Given the description of an element on the screen output the (x, y) to click on. 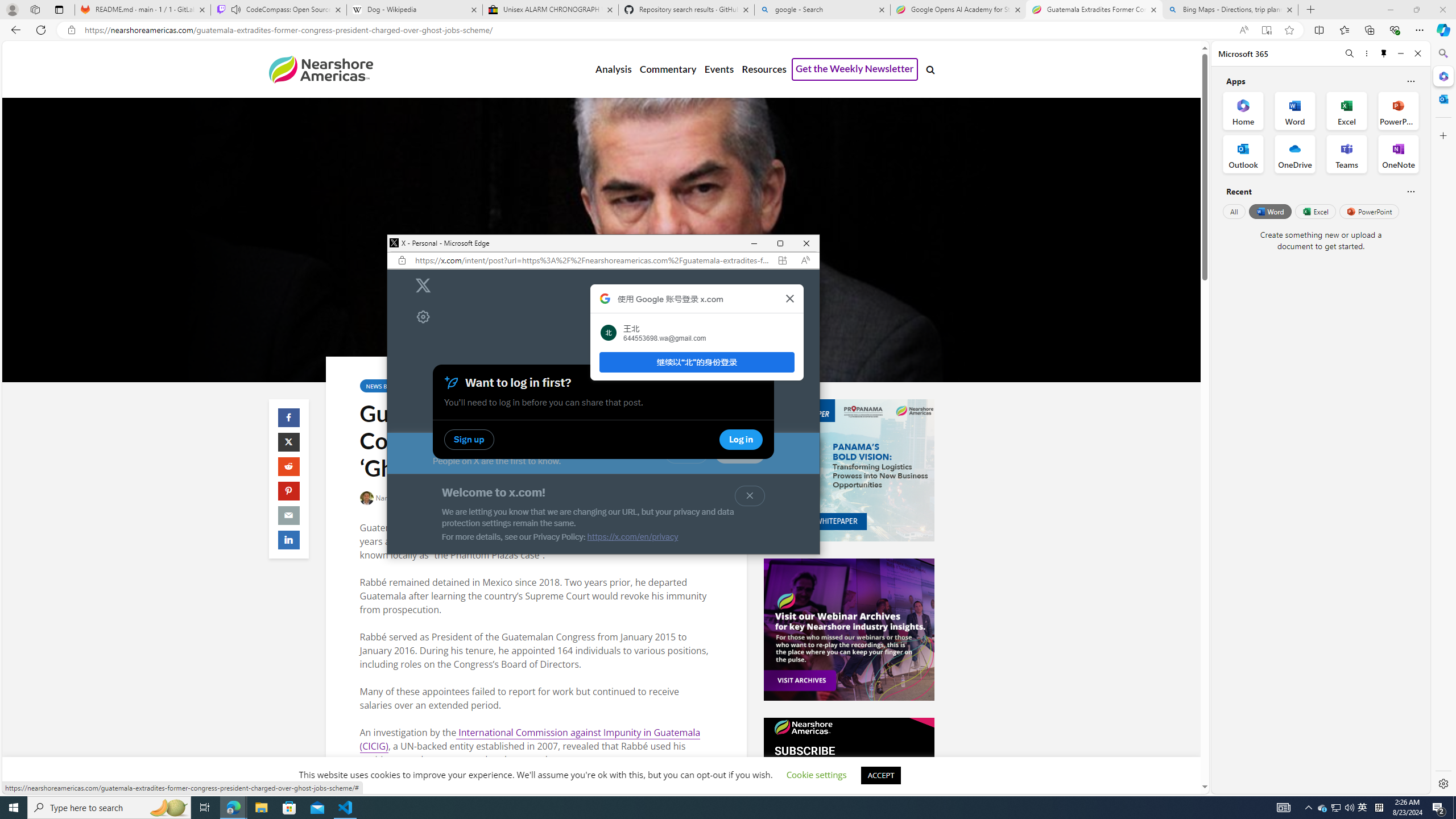
Word (1269, 210)
Outlook Office App (1243, 154)
Nearshore Americas (319, 68)
Cookie settings (816, 774)
Analysis (613, 69)
